Given the description of an element on the screen output the (x, y) to click on. 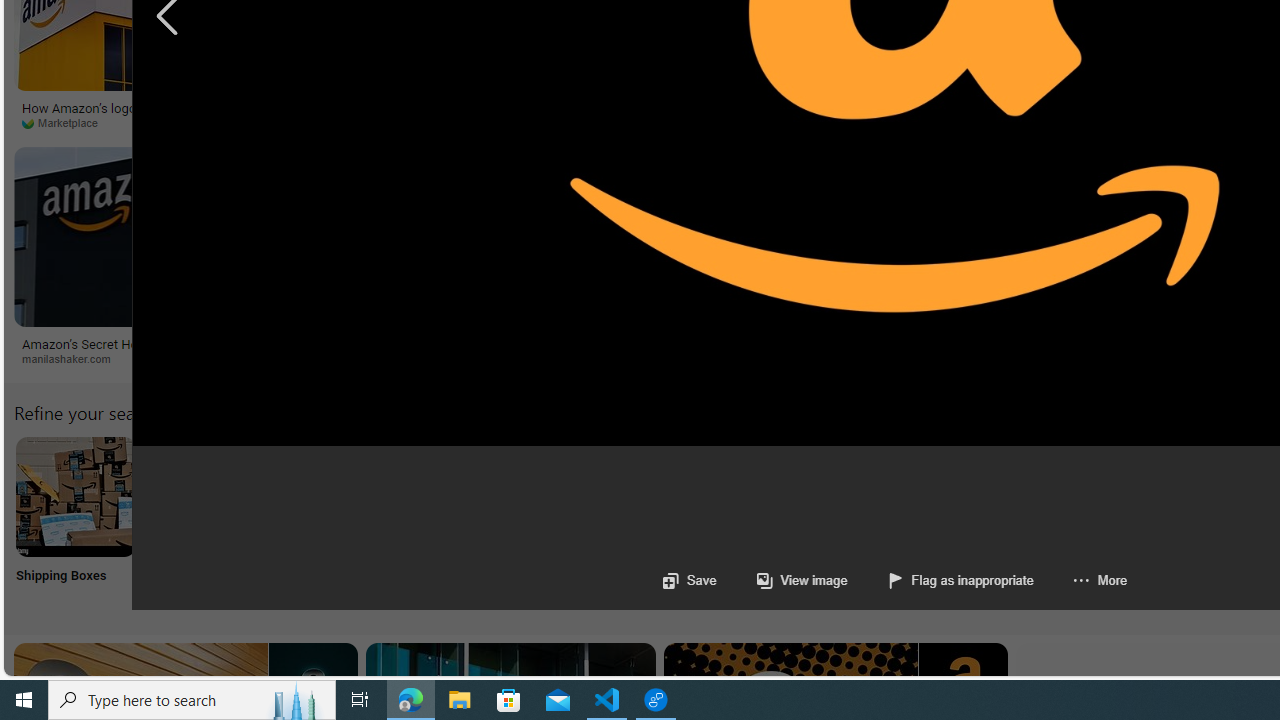
Amazon Package Delivery Package Delivery (735, 521)
